Given the description of an element on the screen output the (x, y) to click on. 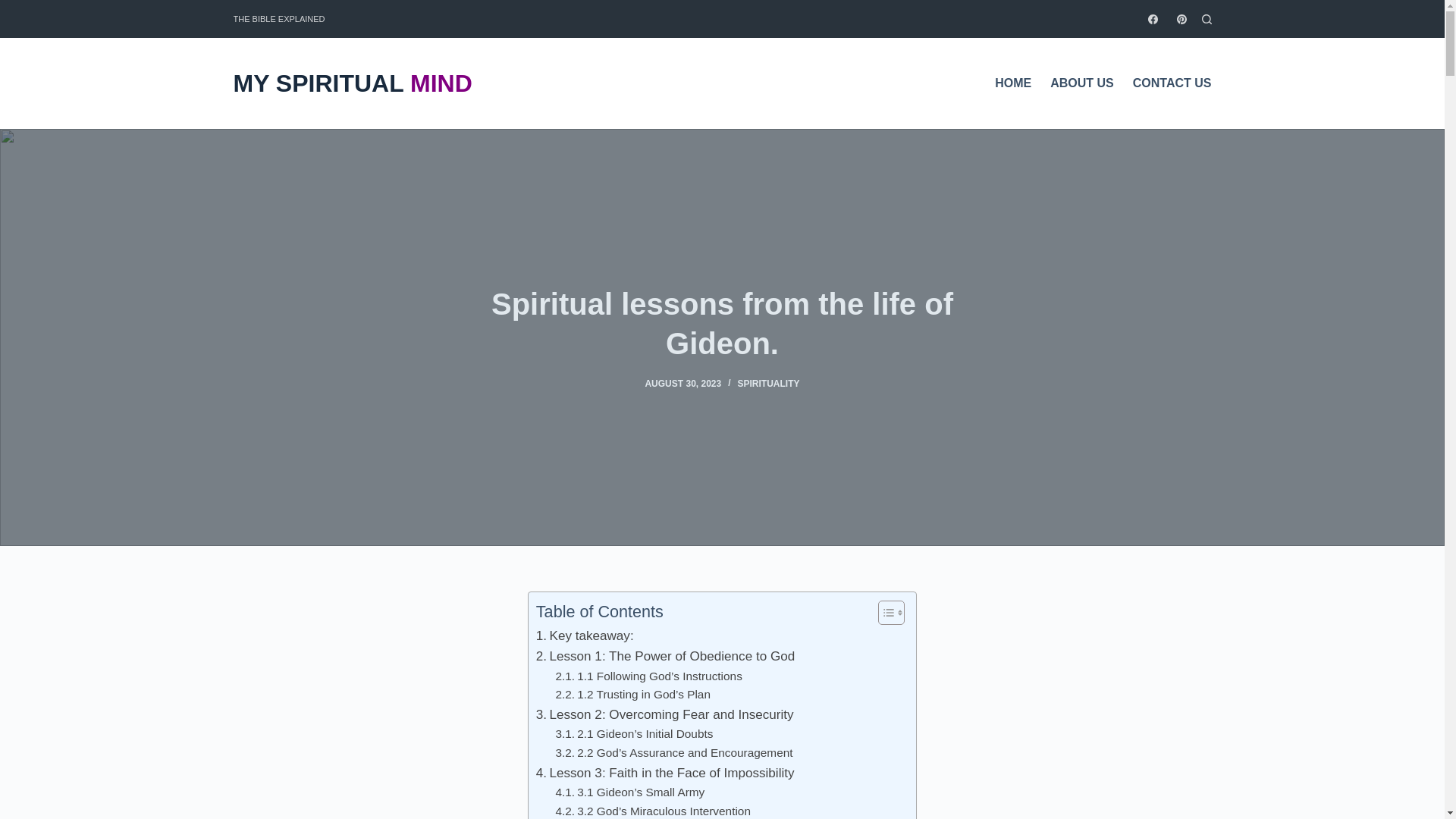
CONTACT US (1166, 82)
Key takeaway: (584, 635)
Lesson 1: The Power of Obedience to God (664, 656)
HOME (1017, 82)
Lesson 3: Faith in the Face of Impossibility (664, 772)
Lesson 2: Overcoming Fear and Insecurity (664, 714)
Key takeaway: (584, 635)
MY SPIRITUAL MIND (351, 84)
THE BIBLE EXPLAINED (278, 18)
Lesson 3: Faith in the Face of Impossibility (664, 772)
Spiritual lessons from the life of Gideon. (722, 323)
Lesson 2: Overcoming Fear and Insecurity (664, 714)
ABOUT US (1082, 82)
Lesson 1: The Power of Obedience to God (664, 656)
Skip to content (15, 7)
